Given the description of an element on the screen output the (x, y) to click on. 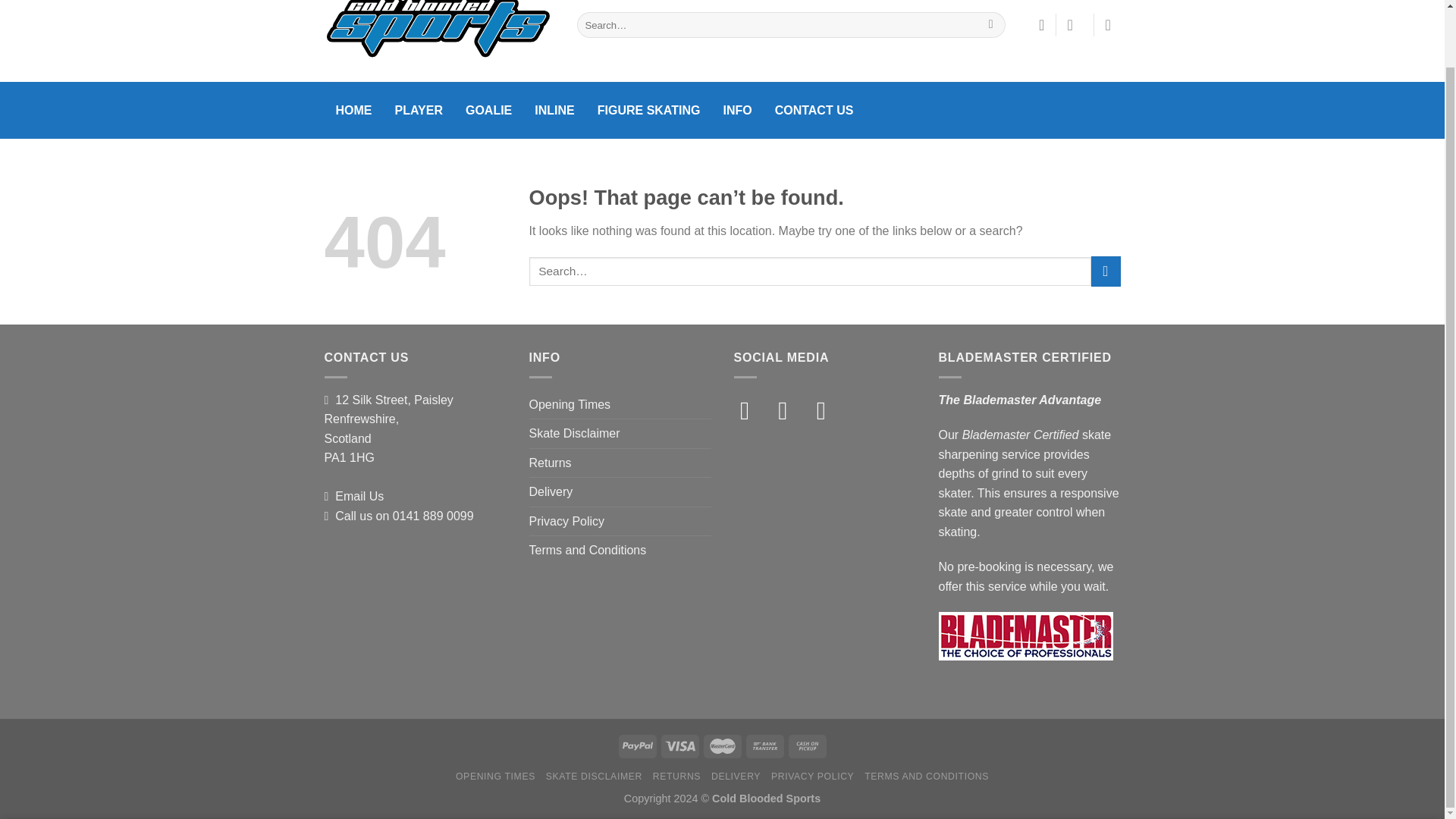
Basket (1113, 24)
Follow on Instagram (790, 410)
Follow on Facebook (752, 410)
Follow on Twitter (829, 410)
HOME (354, 109)
Search (990, 24)
PLAYER (419, 109)
